Given the description of an element on the screen output the (x, y) to click on. 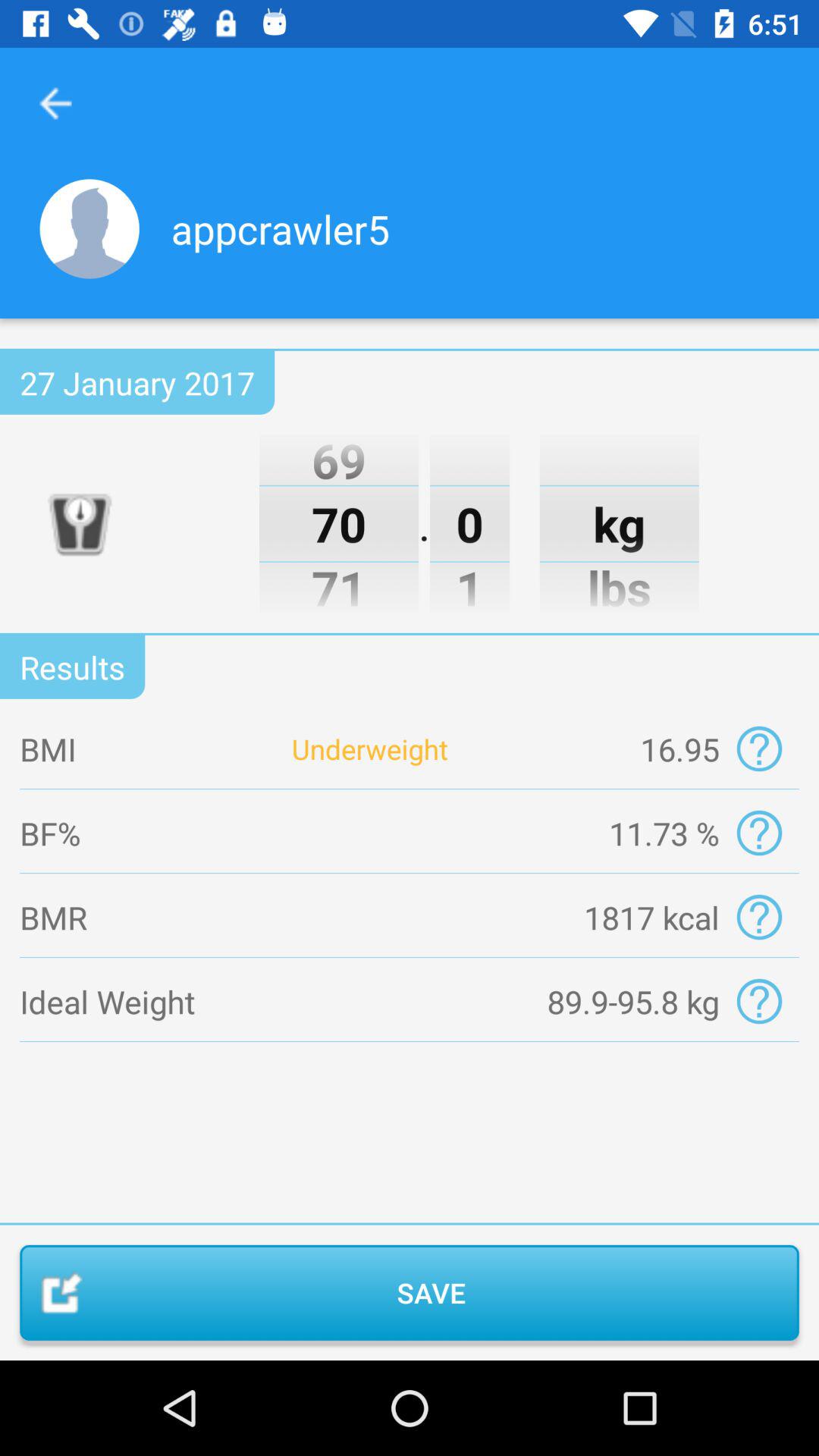
click the questtion mark (759, 748)
